Given the description of an element on the screen output the (x, y) to click on. 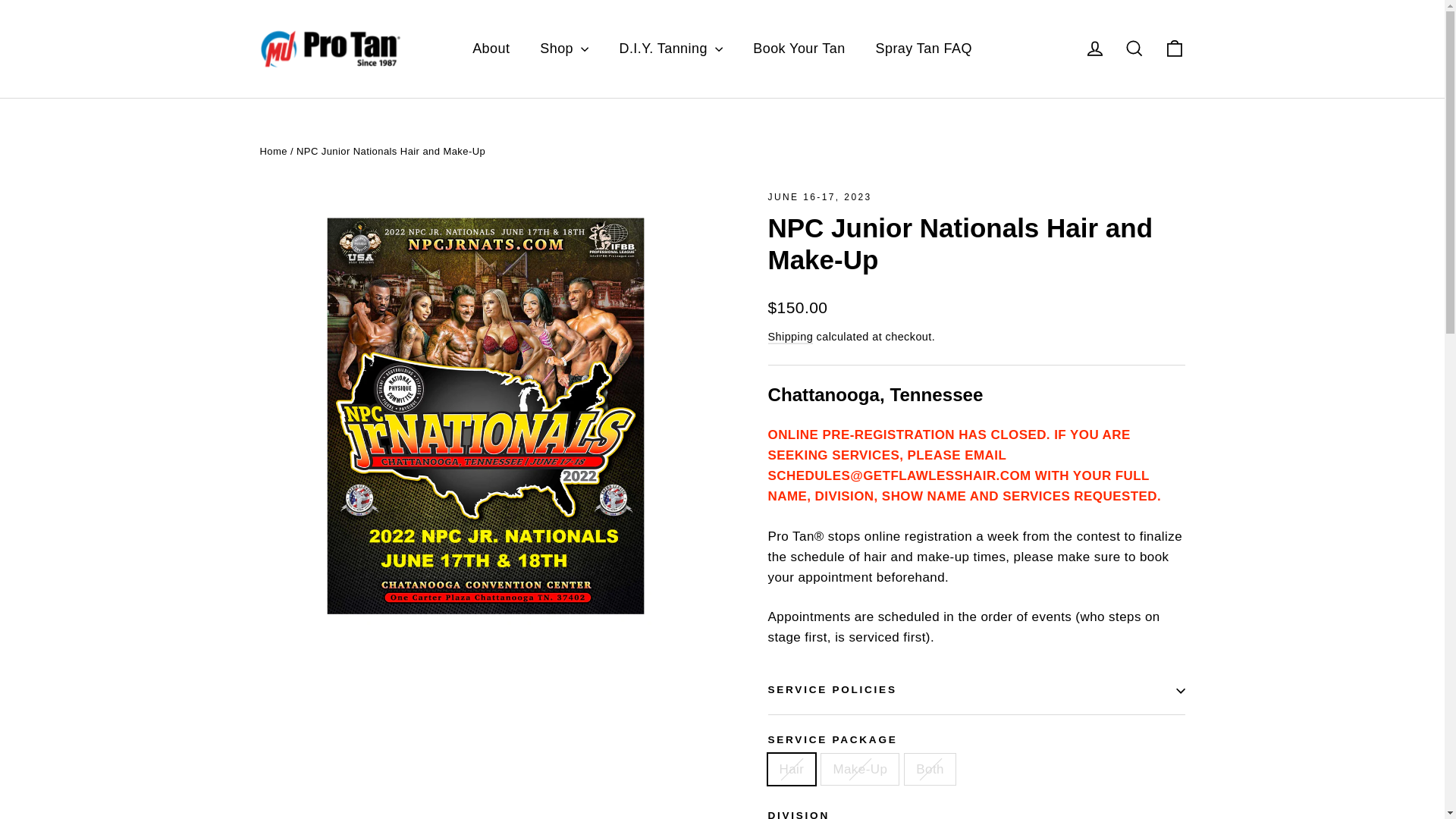
June 16-17, 2023 (818, 196)
account (1094, 47)
icon-search (1134, 47)
About (490, 48)
icon-bag-minimal (1174, 47)
Back to the frontpage (272, 151)
